Given the description of an element on the screen output the (x, y) to click on. 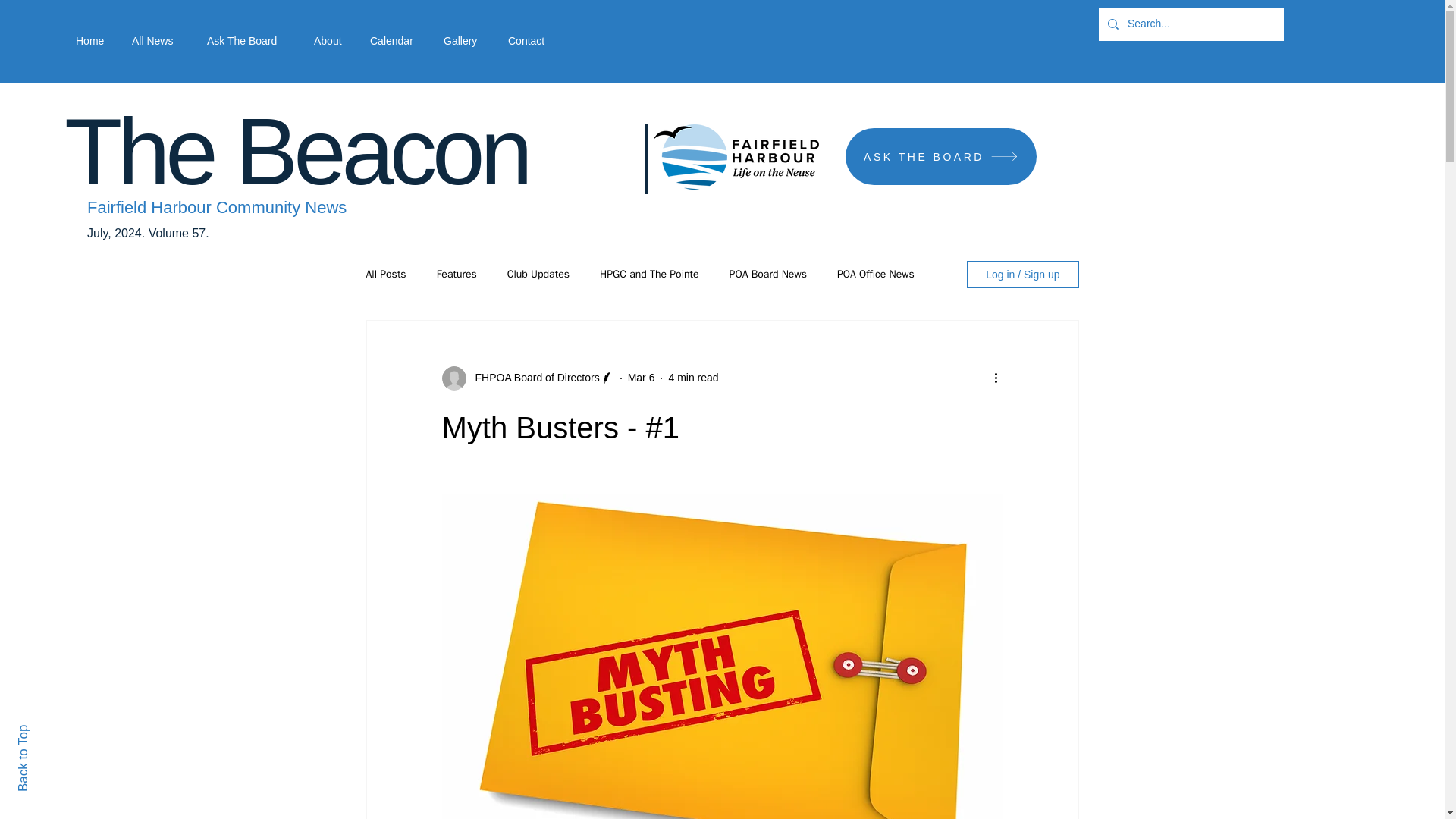
Mar 6 (641, 377)
Contact (530, 41)
4 min read (692, 377)
Home (92, 41)
Features (456, 274)
FHPOA Board of Directors (531, 377)
ASK THE BOARD (940, 156)
Calendar (395, 41)
About (330, 41)
All Posts (385, 274)
HPGC and The Pointe (648, 274)
Ask The Board (248, 41)
POA Office News (875, 274)
Club Updates (537, 274)
All News (157, 41)
